Given the description of an element on the screen output the (x, y) to click on. 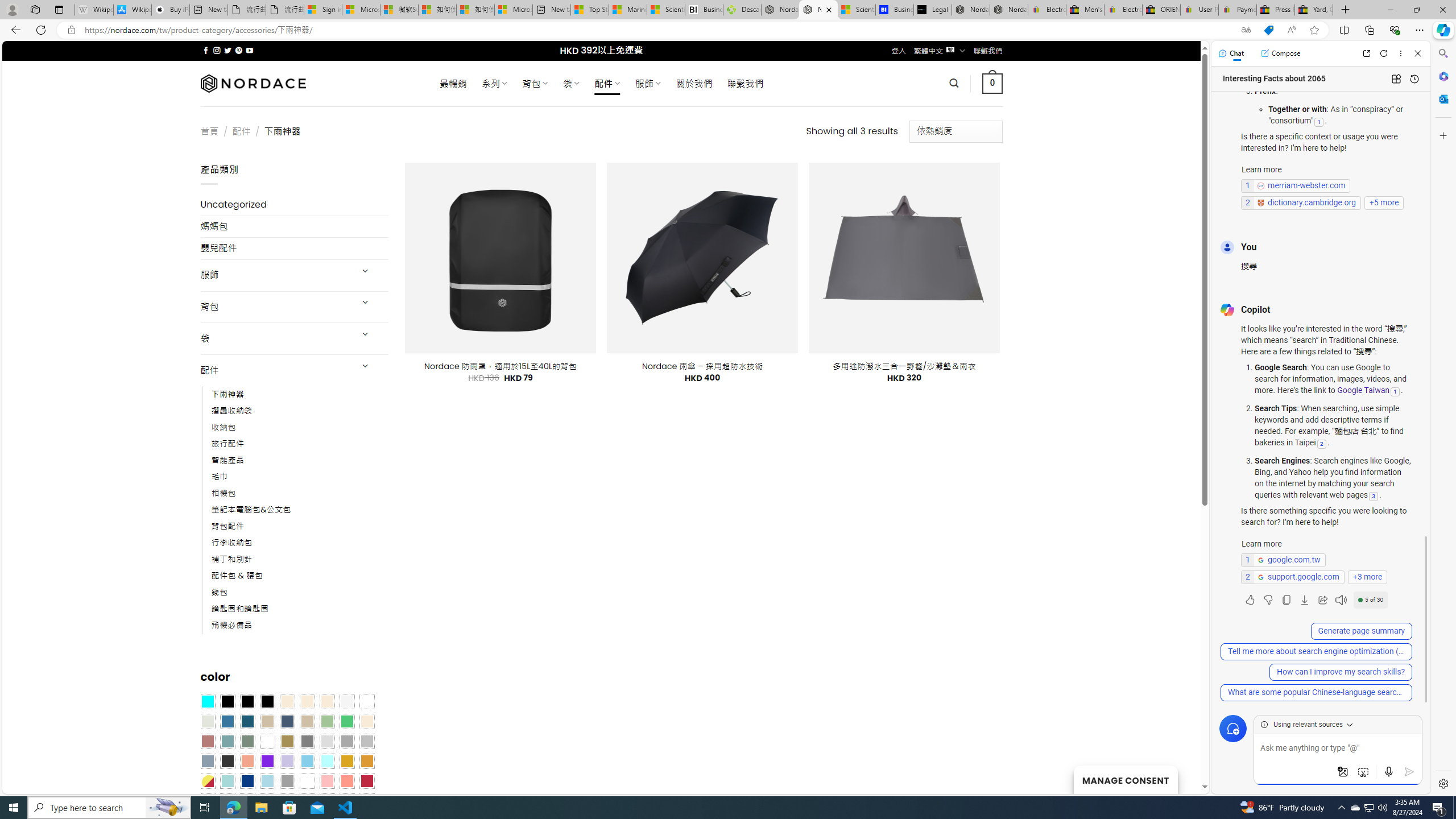
 0  (992, 83)
Payments Terms of Use | eBay.com (1237, 9)
